Given the description of an element on the screen output the (x, y) to click on. 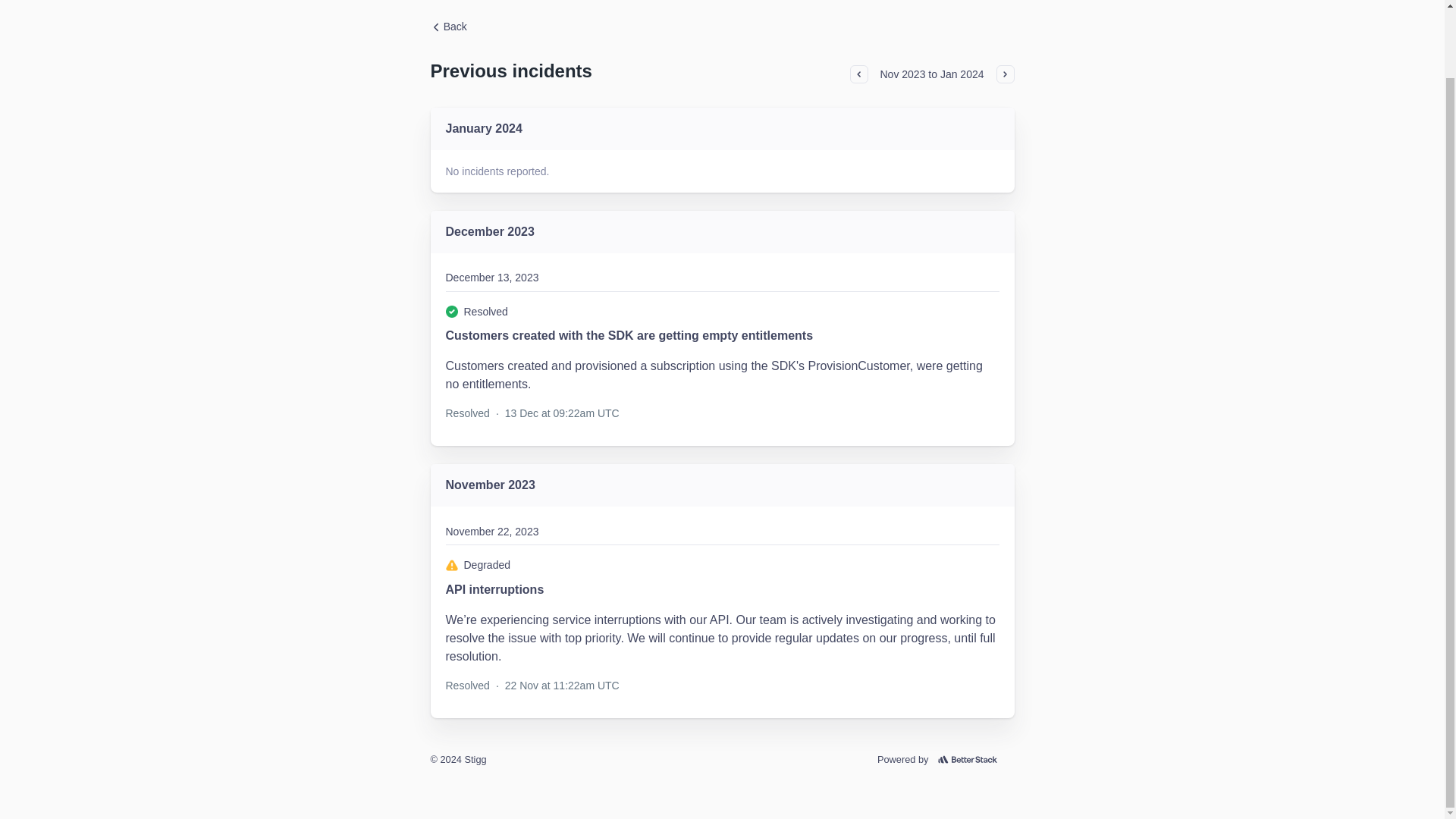
Back (449, 26)
Better Stack (970, 759)
Better Stack (970, 759)
